Given the description of an element on the screen output the (x, y) to click on. 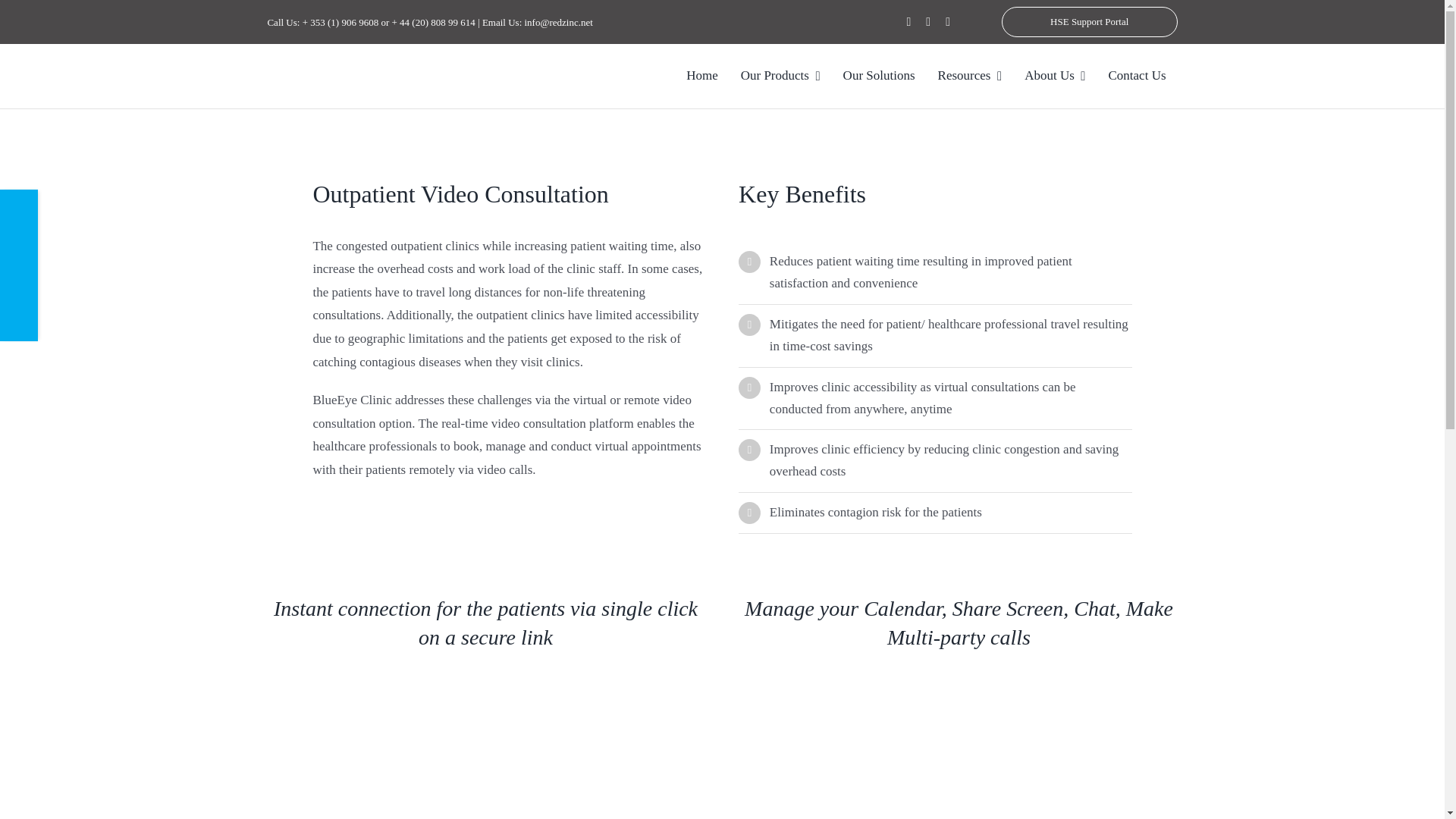
HSE Support Portal (1089, 21)
Resources (969, 76)
About Us (1054, 76)
Our Products (780, 76)
Contact Us (1137, 76)
Our Solutions (878, 76)
